Given the description of an element on the screen output the (x, y) to click on. 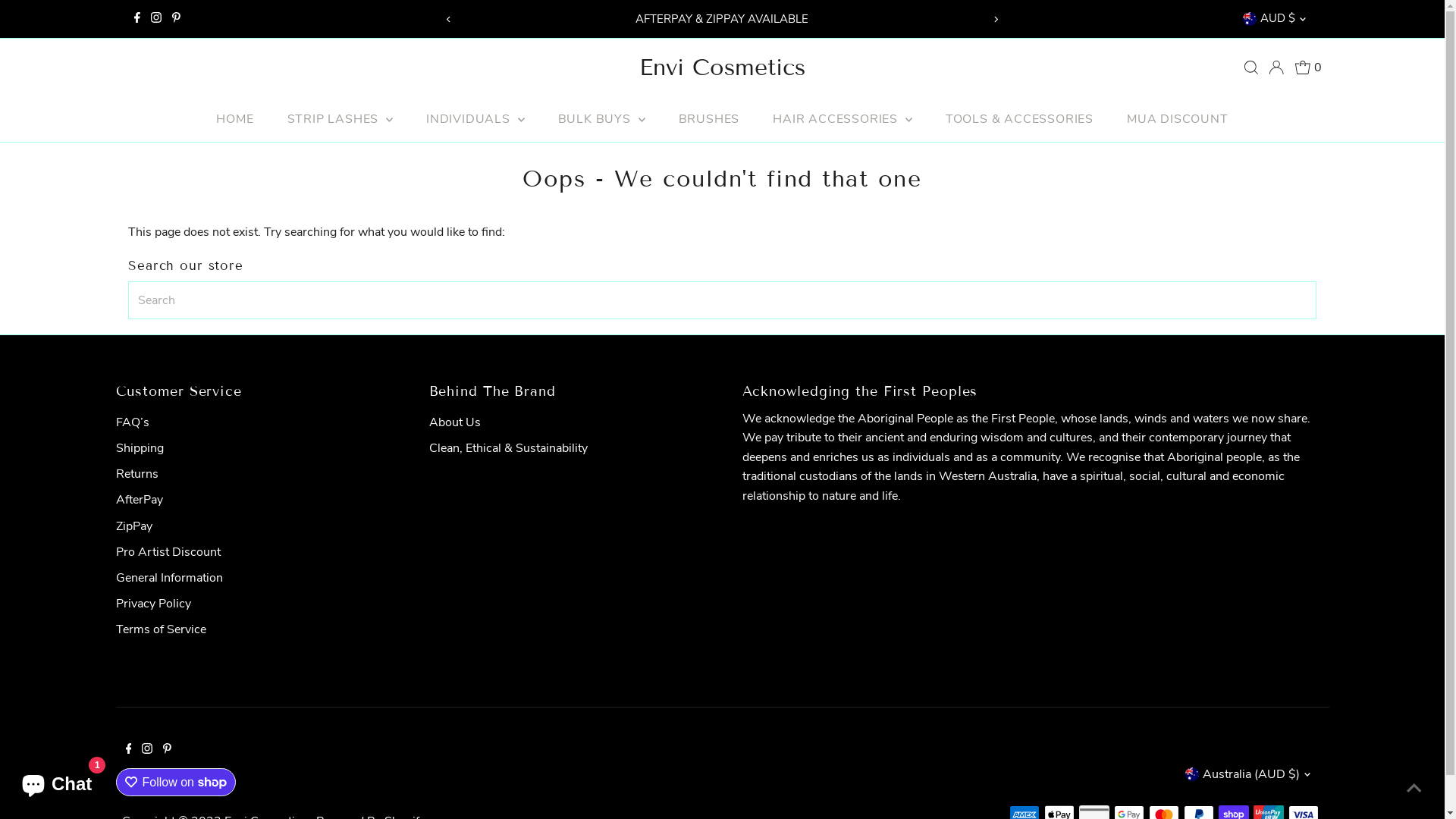
General Information Element type: text (168, 577)
BRUSHES Element type: text (709, 118)
HOME Element type: text (234, 118)
Shipping Element type: text (139, 447)
Terms of Service Element type: text (160, 629)
About Us Element type: text (454, 422)
AfterPay Element type: text (138, 499)
Envi Cosmetics Element type: text (722, 67)
Shopify online store chat Element type: hover (56, 780)
Pro Artist Discount Element type: text (167, 551)
ZipPay Element type: text (133, 525)
TOOLS & ACCESSORIES Element type: text (1019, 118)
Clean, Ethical & Sustainability Element type: text (508, 447)
AUD $ Element type: text (1276, 18)
Australia (AUD $) Element type: text (1249, 774)
Returns Element type: text (136, 473)
MUA DISCOUNT Element type: text (1177, 118)
0 Element type: text (1308, 67)
Privacy Policy Element type: text (152, 603)
